Given the description of an element on the screen output the (x, y) to click on. 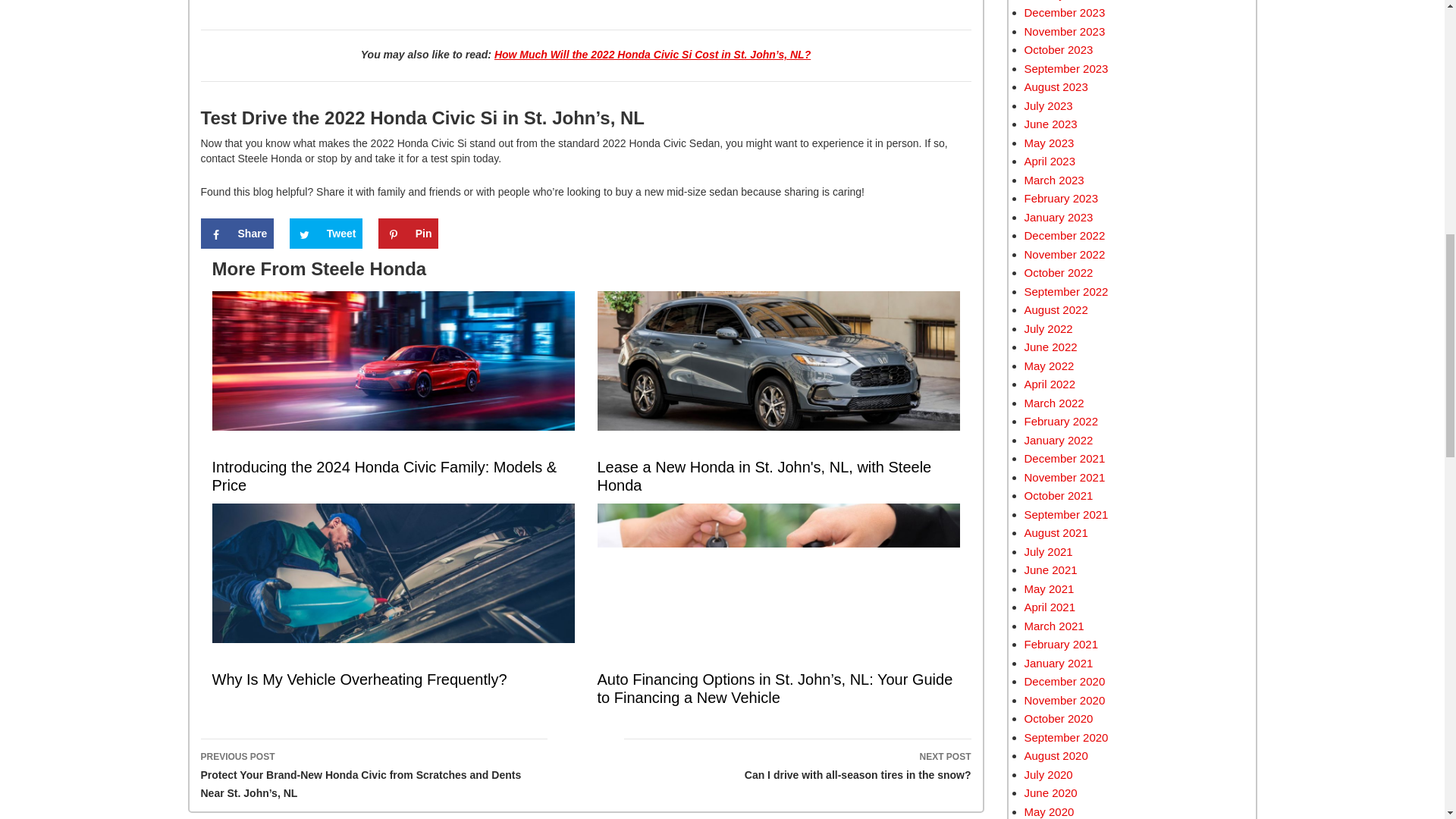
Share on Share (236, 233)
Share on Tweet (325, 233)
Save to Pinterest (408, 233)
